Given the description of an element on the screen output the (x, y) to click on. 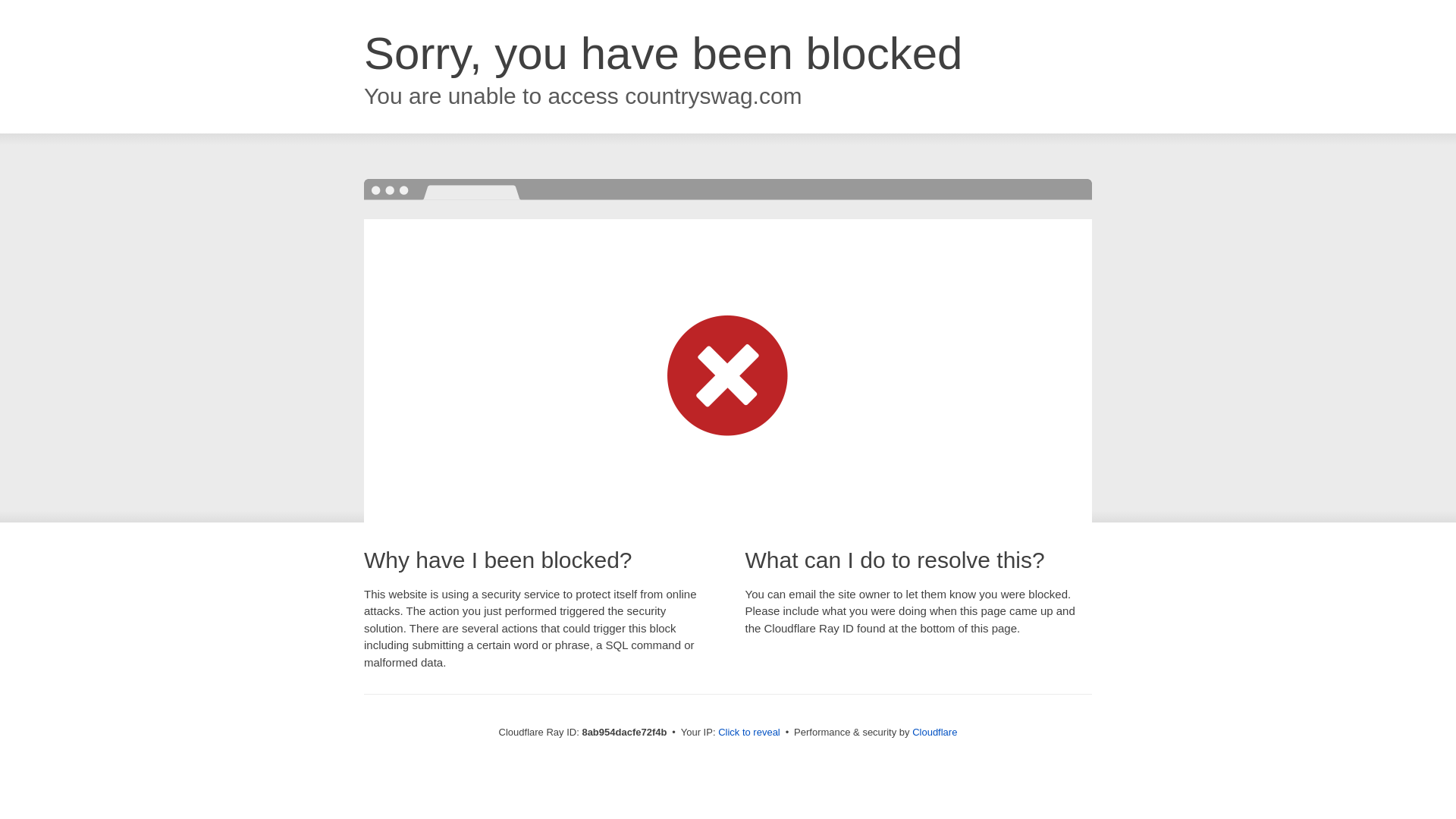
Cloudflare (934, 731)
Click to reveal (748, 732)
